Given the description of an element on the screen output the (x, y) to click on. 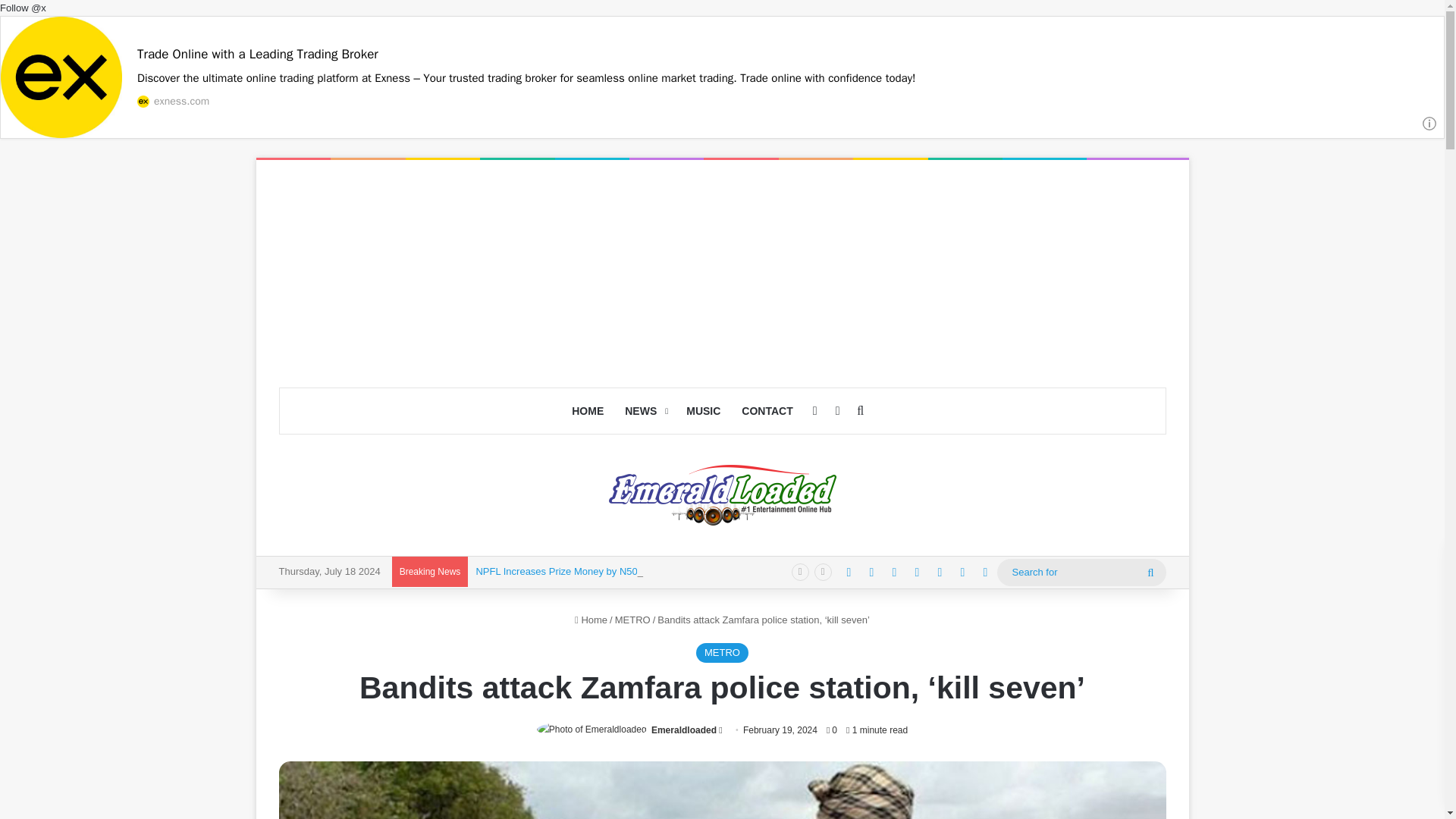
METRO (632, 619)
Emeraldloaded (721, 495)
Home (591, 619)
MUSIC (702, 411)
CONTACT (766, 411)
NEWS (644, 411)
METRO (721, 652)
HOME (587, 411)
Emeraldloaded (683, 729)
Emeraldloaded (683, 729)
Search for (1080, 571)
Search for (1150, 572)
